Given the description of an element on the screen output the (x, y) to click on. 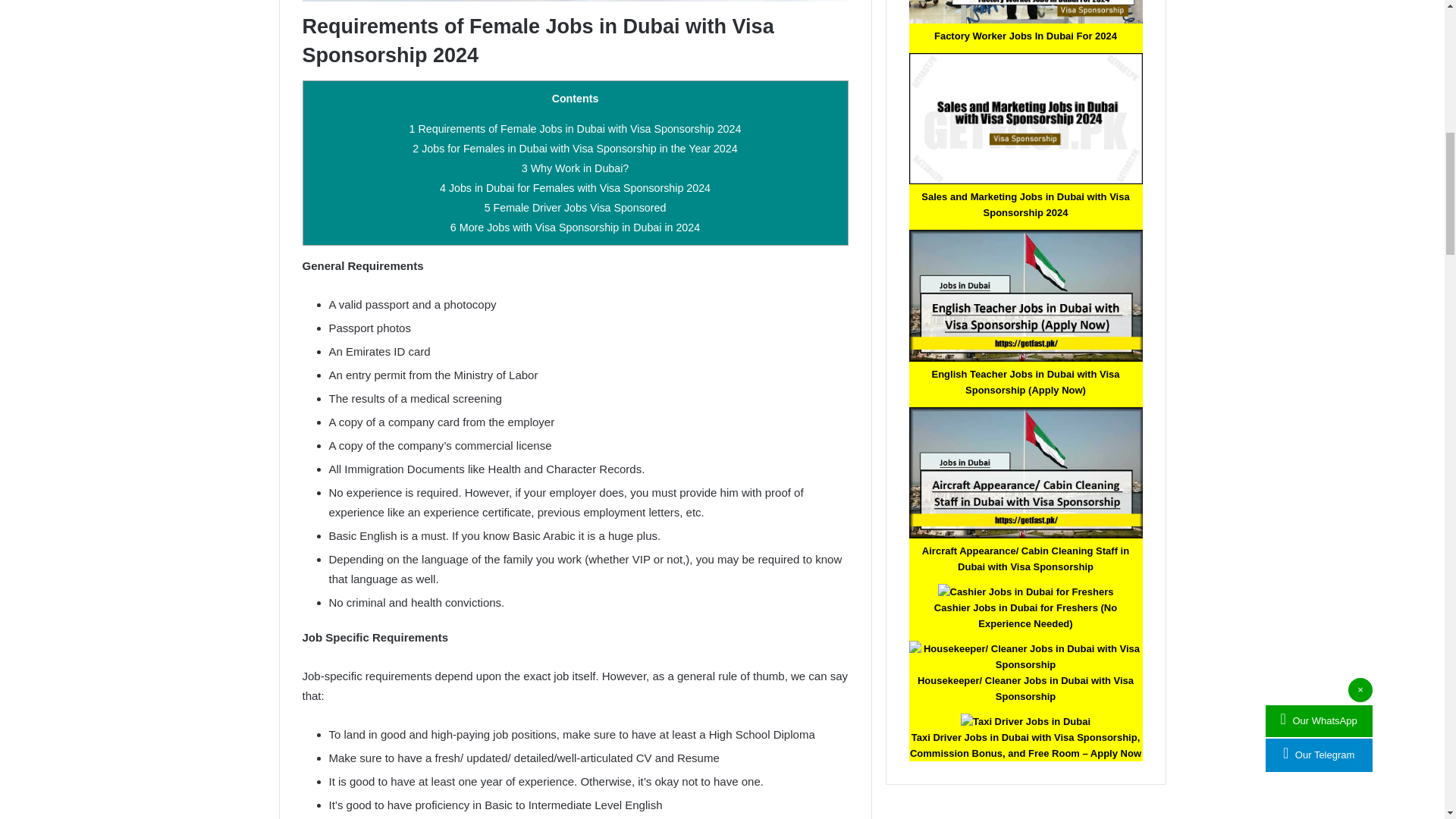
3 Why Work in Dubai? (574, 168)
4 Jobs in Dubai for Females with Visa Sponsorship 2024 (574, 187)
6 More Jobs with Visa Sponsorship in Dubai in 2024 (574, 227)
5 Female Driver Jobs Visa Sponsored (575, 207)
